Given the description of an element on the screen output the (x, y) to click on. 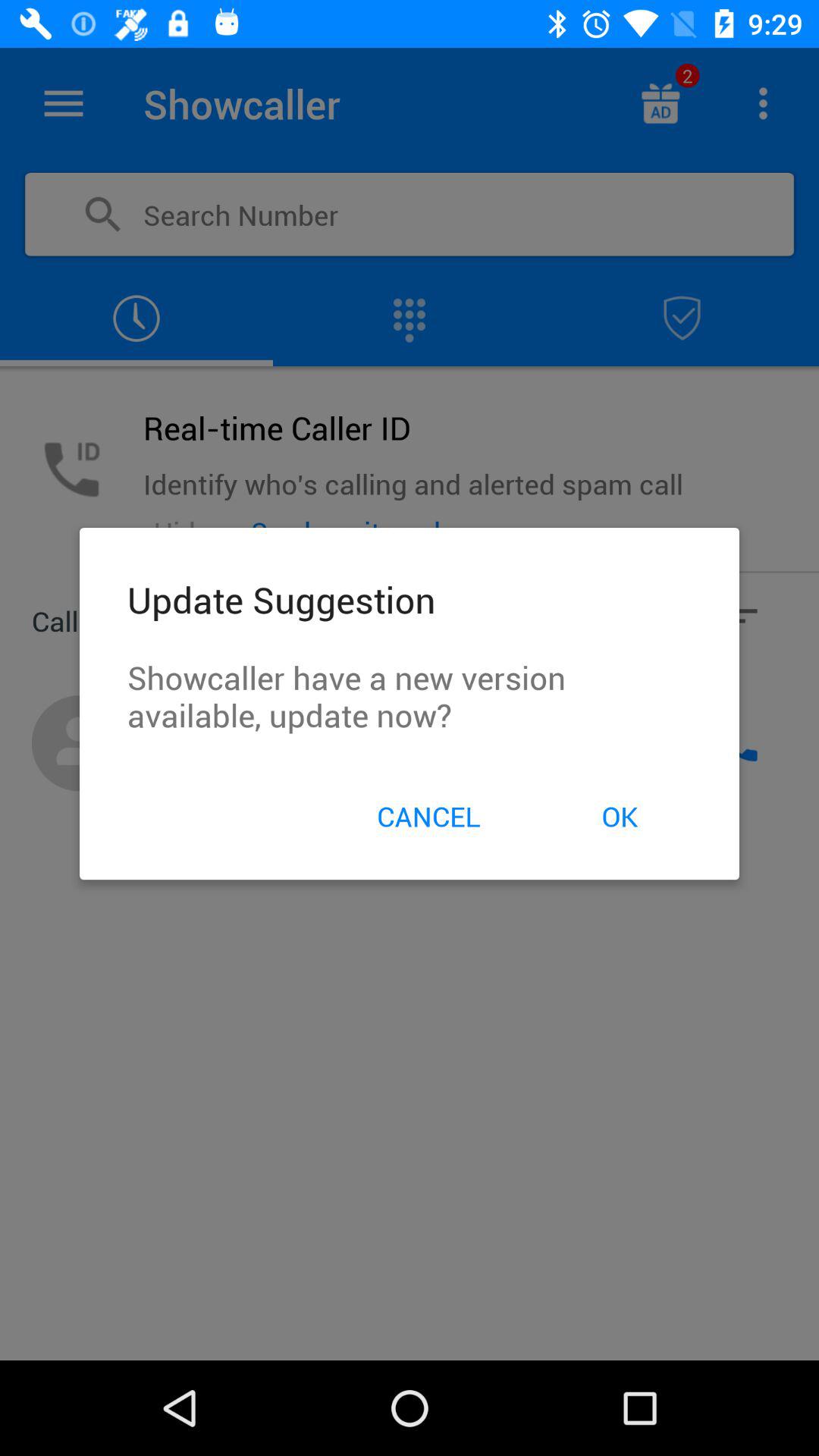
turn off the cancel icon (428, 815)
